Given the description of an element on the screen output the (x, y) to click on. 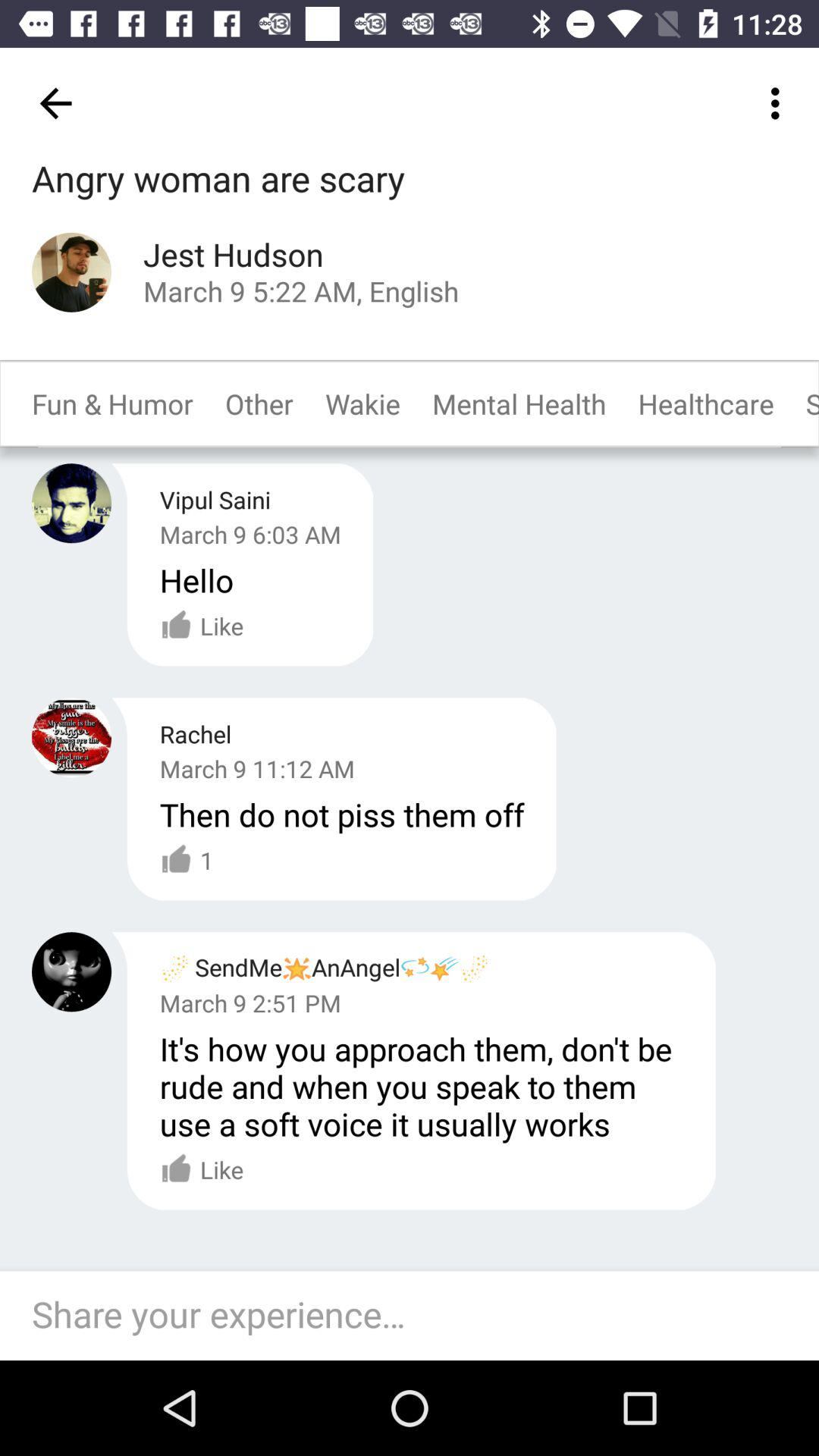
open the item below the march 9 2 item (421, 1086)
